Given the description of an element on the screen output the (x, y) to click on. 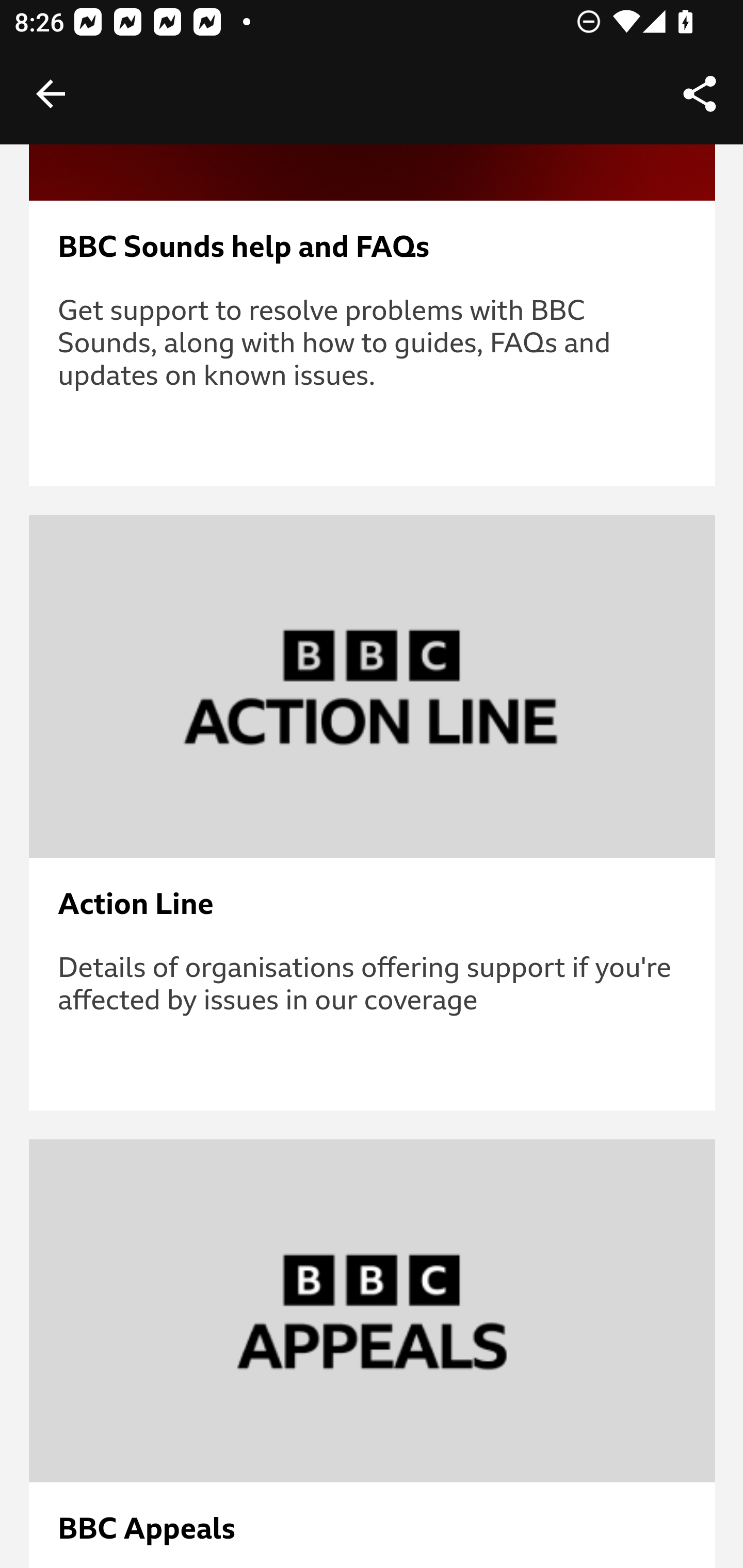
Back (50, 93)
Share (699, 93)
BBC Sounds help and FAQs (372, 248)
Action Line (372, 905)
BBC Appeals (372, 1529)
